Given the description of an element on the screen output the (x, y) to click on. 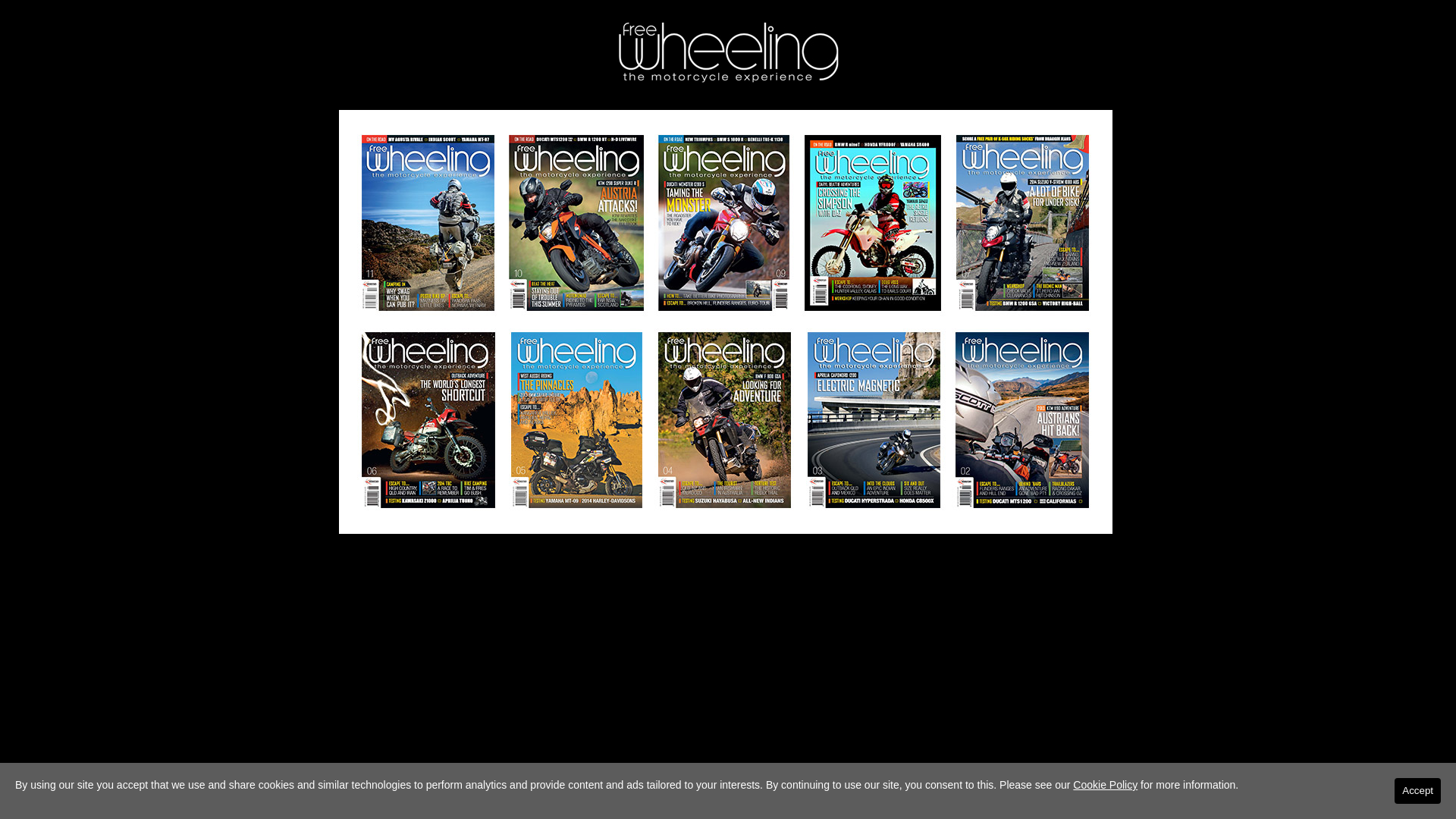
Cookie Policy Element type: text (1105, 784)
Accept Element type: text (1417, 790)
